Given the description of an element on the screen output the (x, y) to click on. 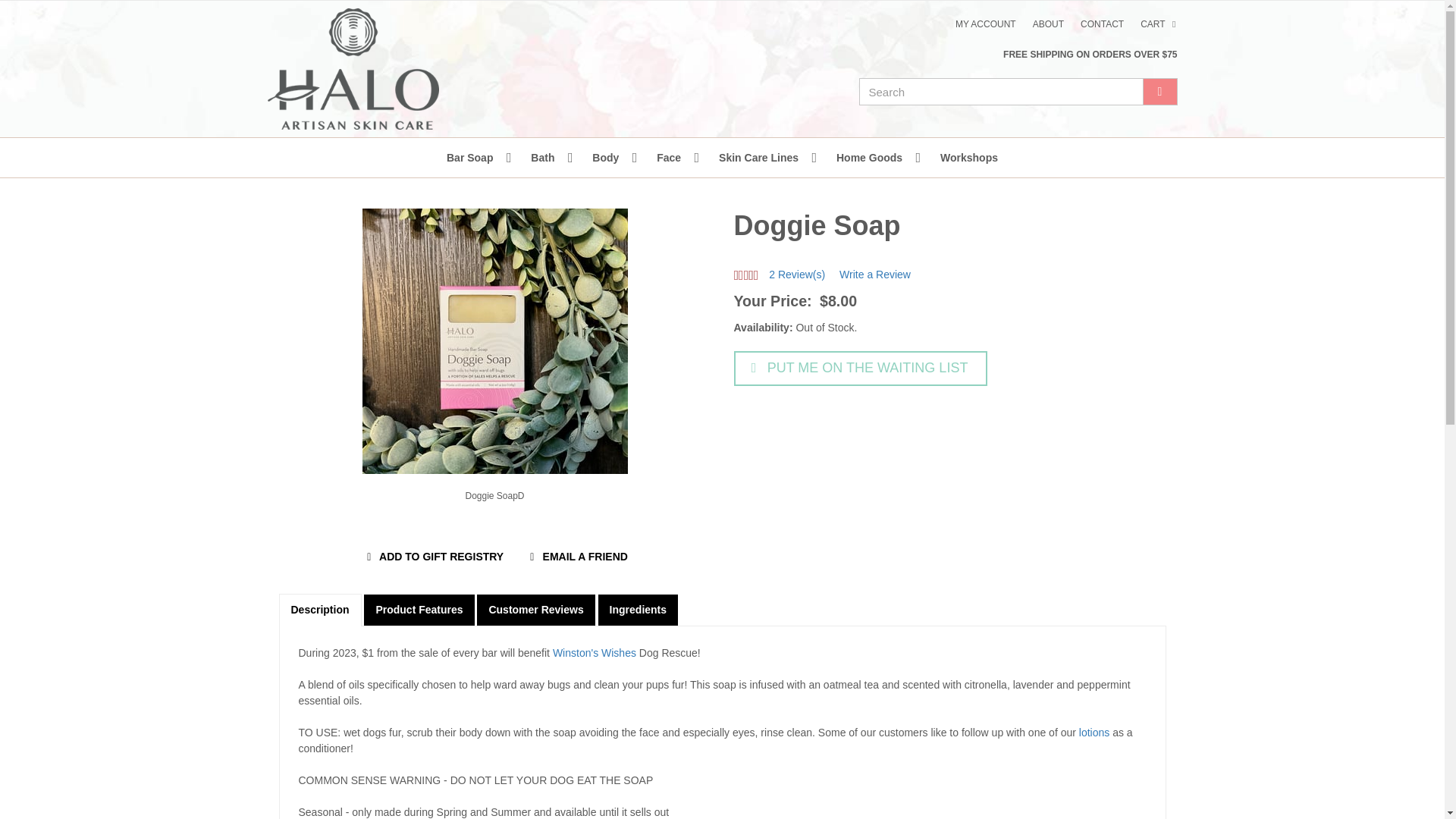
Bar Soap (472, 157)
MY ACCOUNT (986, 24)
CONTACT (1101, 24)
Doggie SoapD  (495, 495)
Bath (545, 157)
CART (1160, 24)
Face (672, 157)
Skin Care Lines (761, 157)
Body (609, 157)
ABOUT (1048, 24)
